Given the description of an element on the screen output the (x, y) to click on. 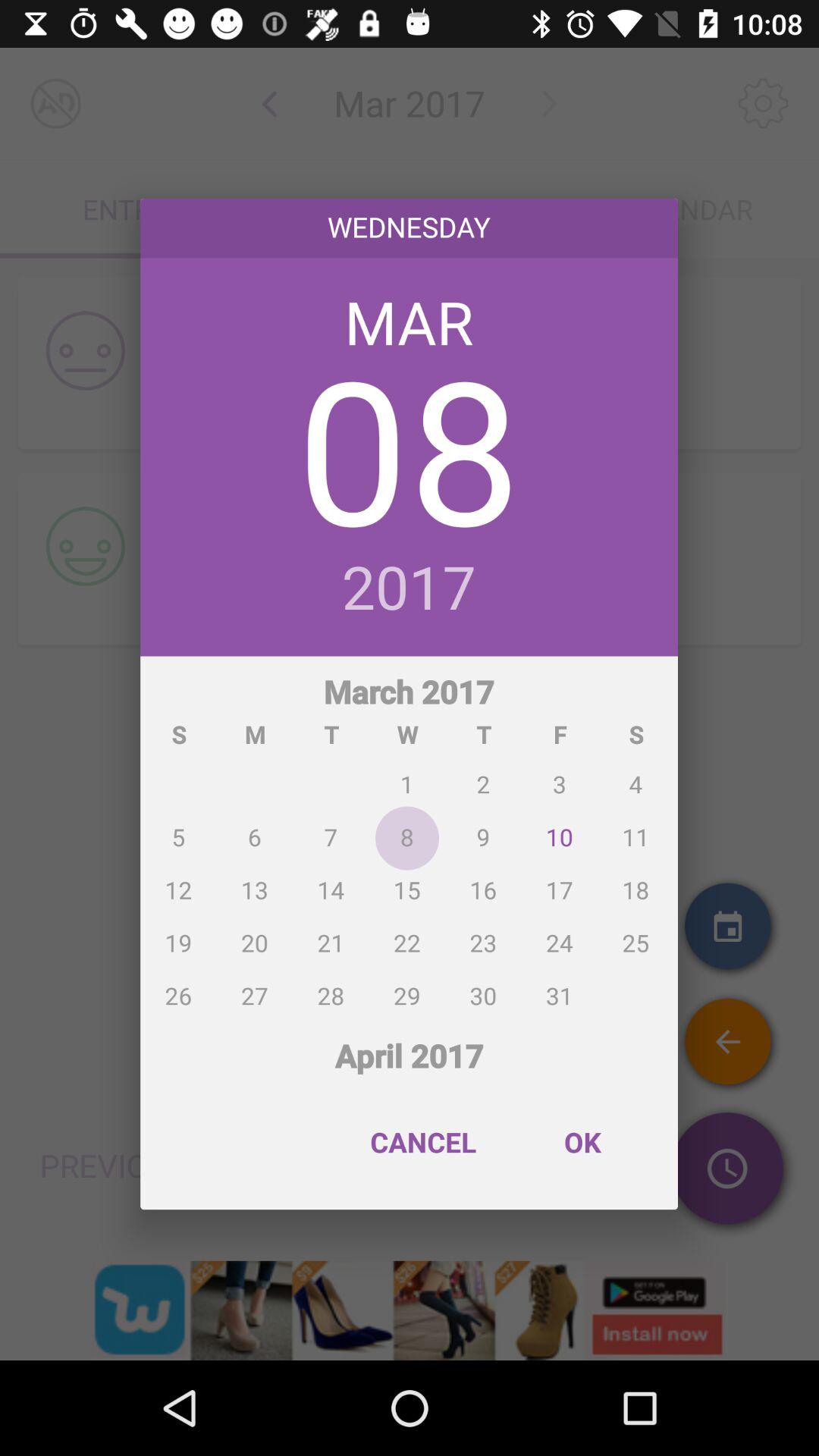
swipe until ok item (582, 1141)
